Given the description of an element on the screen output the (x, y) to click on. 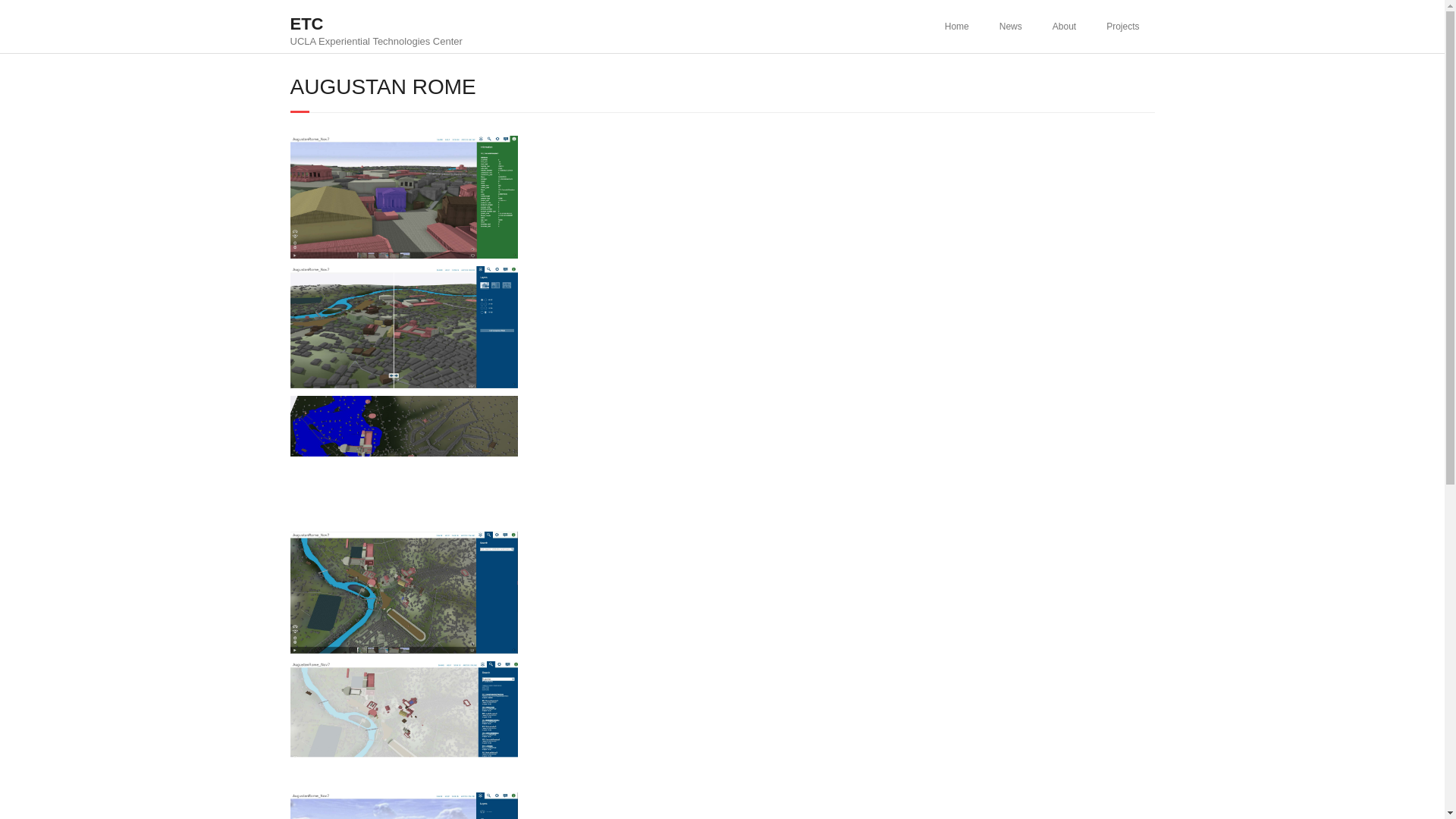
About (375, 26)
UCLA Experiential Technologies Center (1063, 26)
Home (375, 40)
News (957, 26)
ETC (1010, 26)
Projects (375, 23)
